Given the description of an element on the screen output the (x, y) to click on. 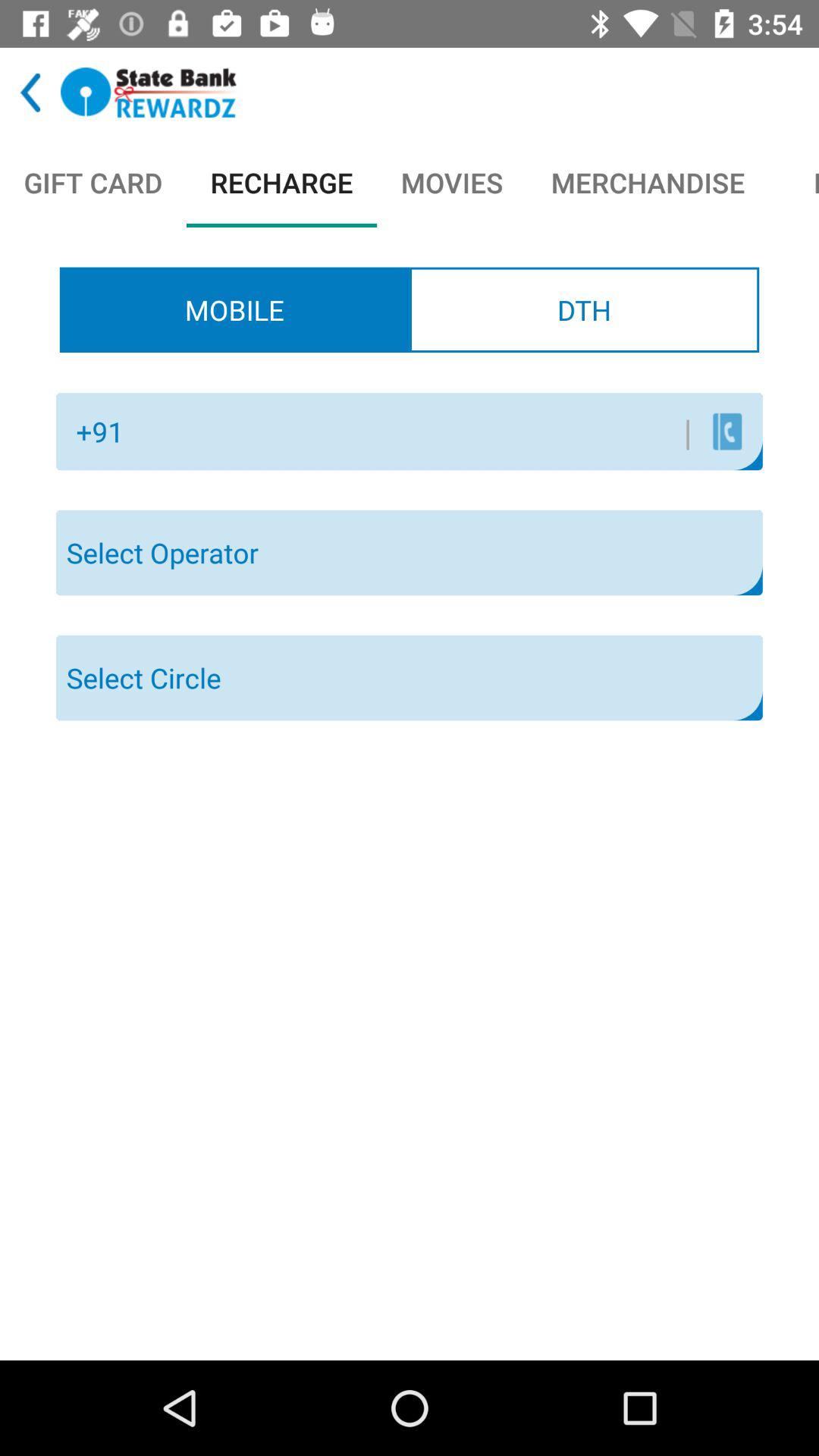
click the icon next to the | (727, 431)
